Given the description of an element on the screen output the (x, y) to click on. 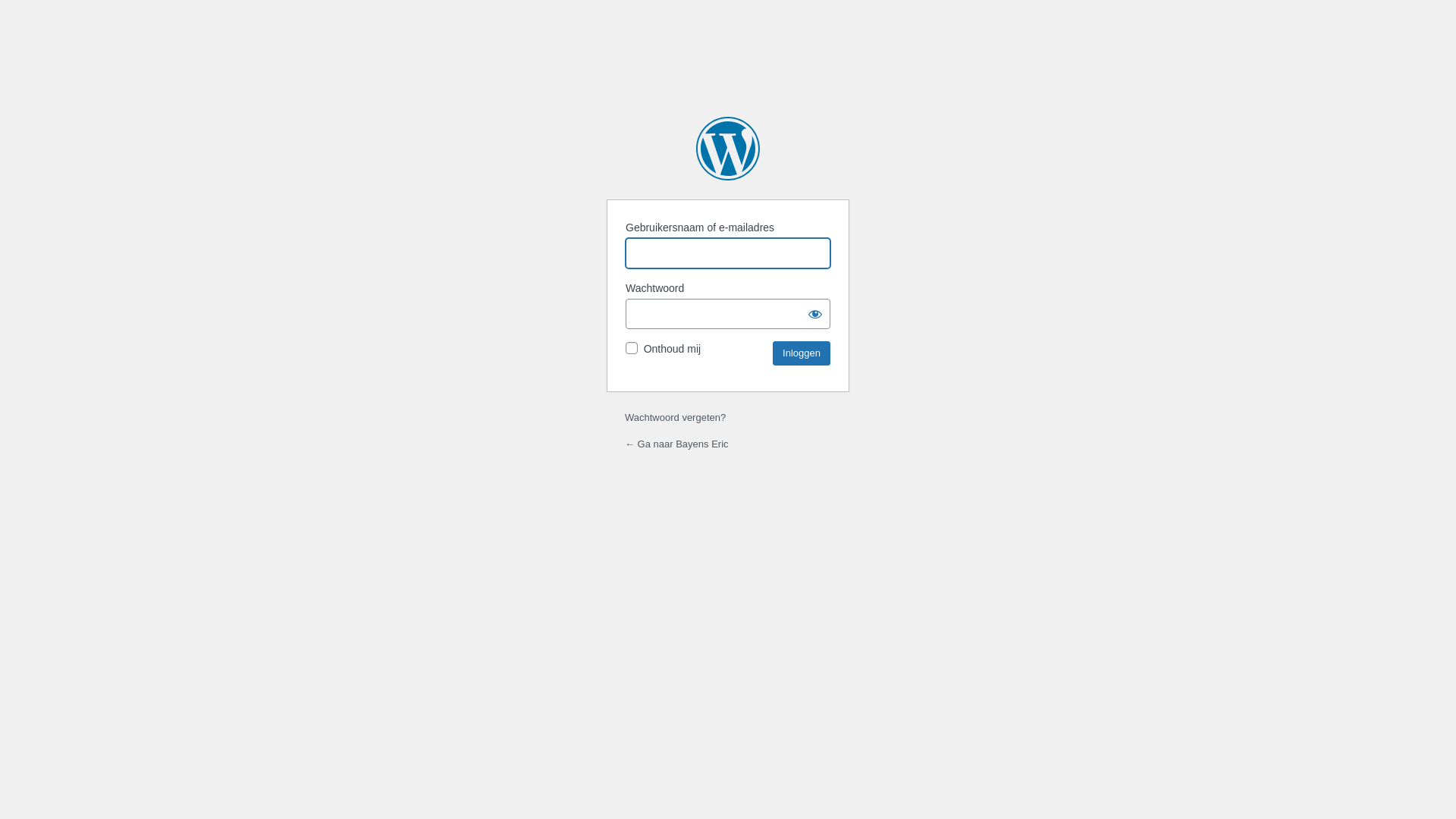
Mogelijk gemaakt door WordPress Element type: text (727, 148)
Wachtwoord vergeten? Element type: text (674, 417)
Inloggen Element type: text (801, 353)
